Given the description of an element on the screen output the (x, y) to click on. 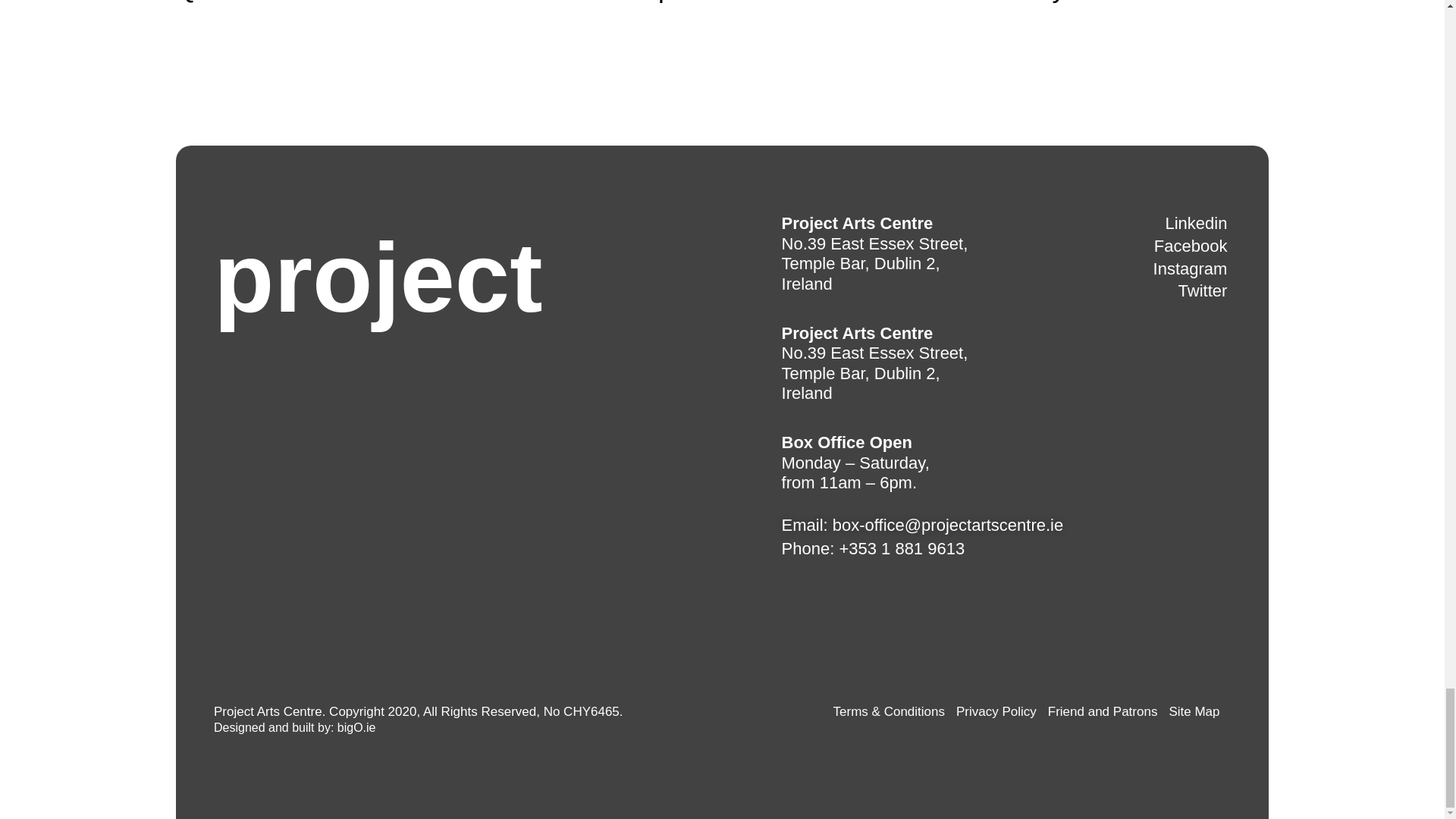
Privacy Policy (996, 712)
Linkedin (1195, 223)
Site Map (1194, 712)
Facebook (1190, 246)
Twitter (1202, 291)
Friend and Patrons (1102, 712)
Instagram (1190, 269)
